Given the description of an element on the screen output the (x, y) to click on. 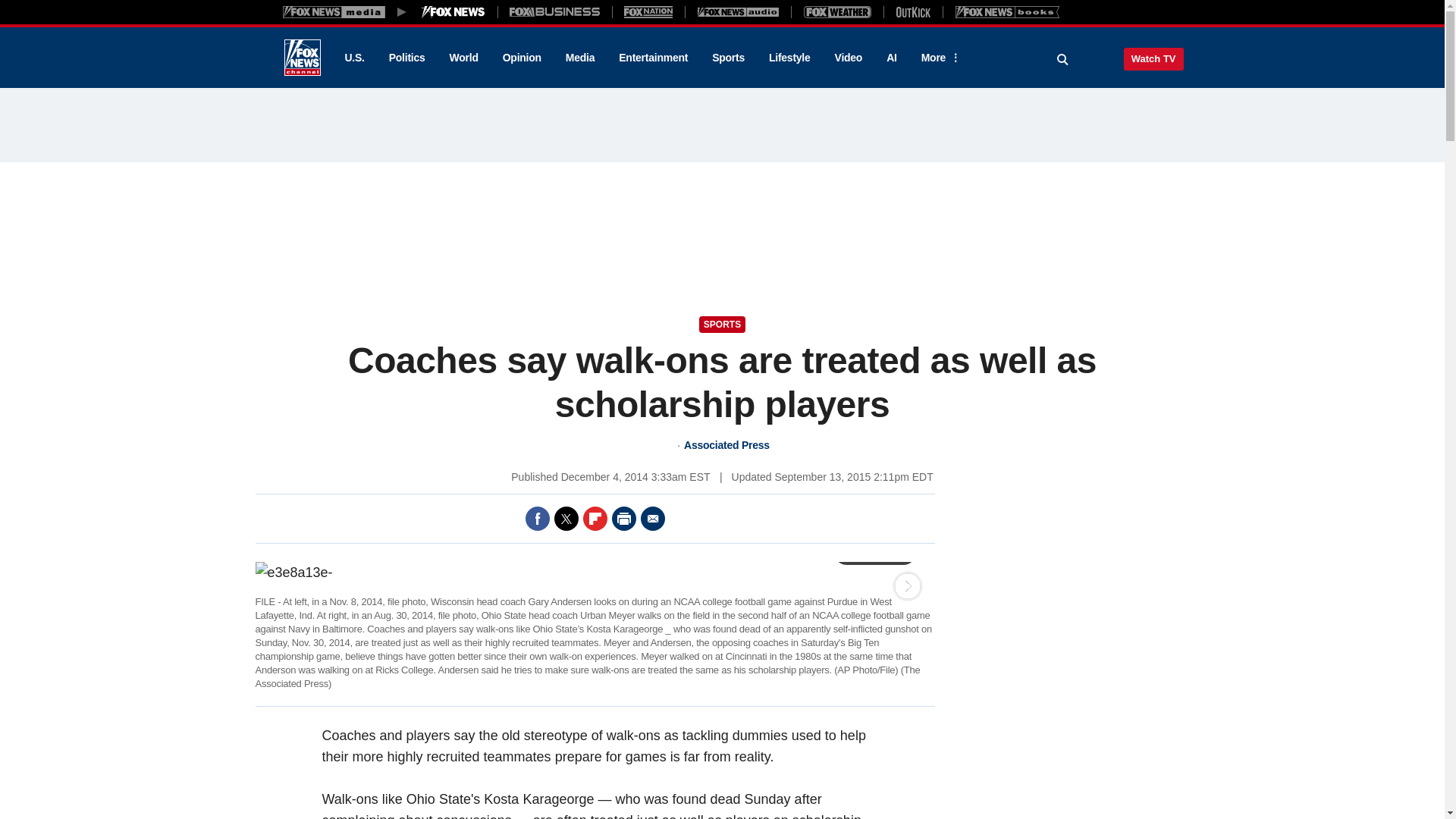
Fox Weather (836, 11)
Politics (407, 57)
AI (891, 57)
Media (580, 57)
Sports (728, 57)
Video (848, 57)
U.S. (353, 57)
Fox Business (554, 11)
More (938, 57)
Outkick (912, 11)
